Given the description of an element on the screen output the (x, y) to click on. 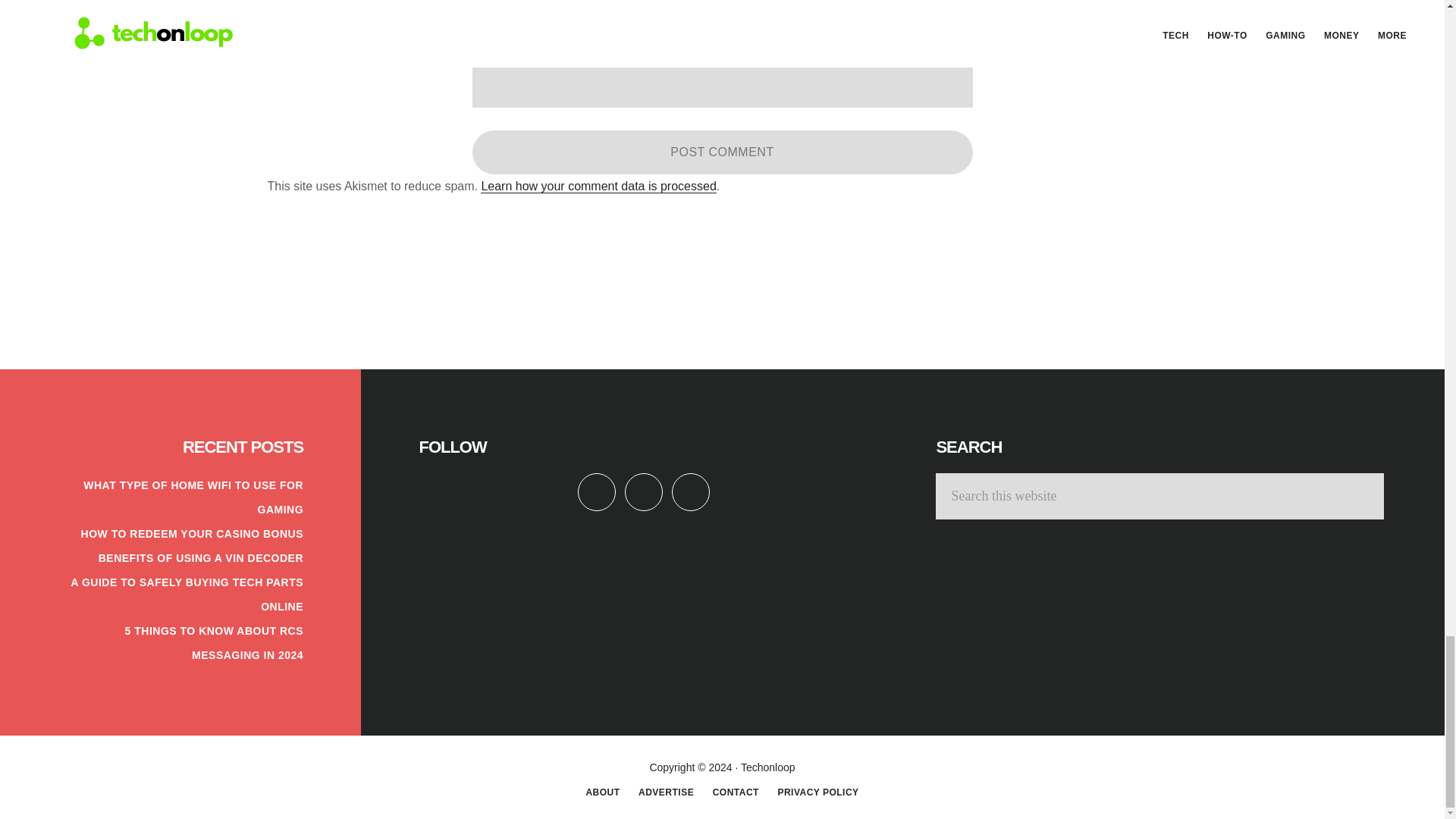
5 THINGS TO KNOW ABOUT RCS MESSAGING IN 2024 (213, 642)
Learn how your comment data is processed (598, 186)
CONTACT (735, 791)
PRIVACY POLICY (818, 791)
ABOUT (602, 791)
A GUIDE TO SAFELY BUYING TECH PARTS ONLINE (185, 594)
ADVERTISE (666, 791)
